Given the description of an element on the screen output the (x, y) to click on. 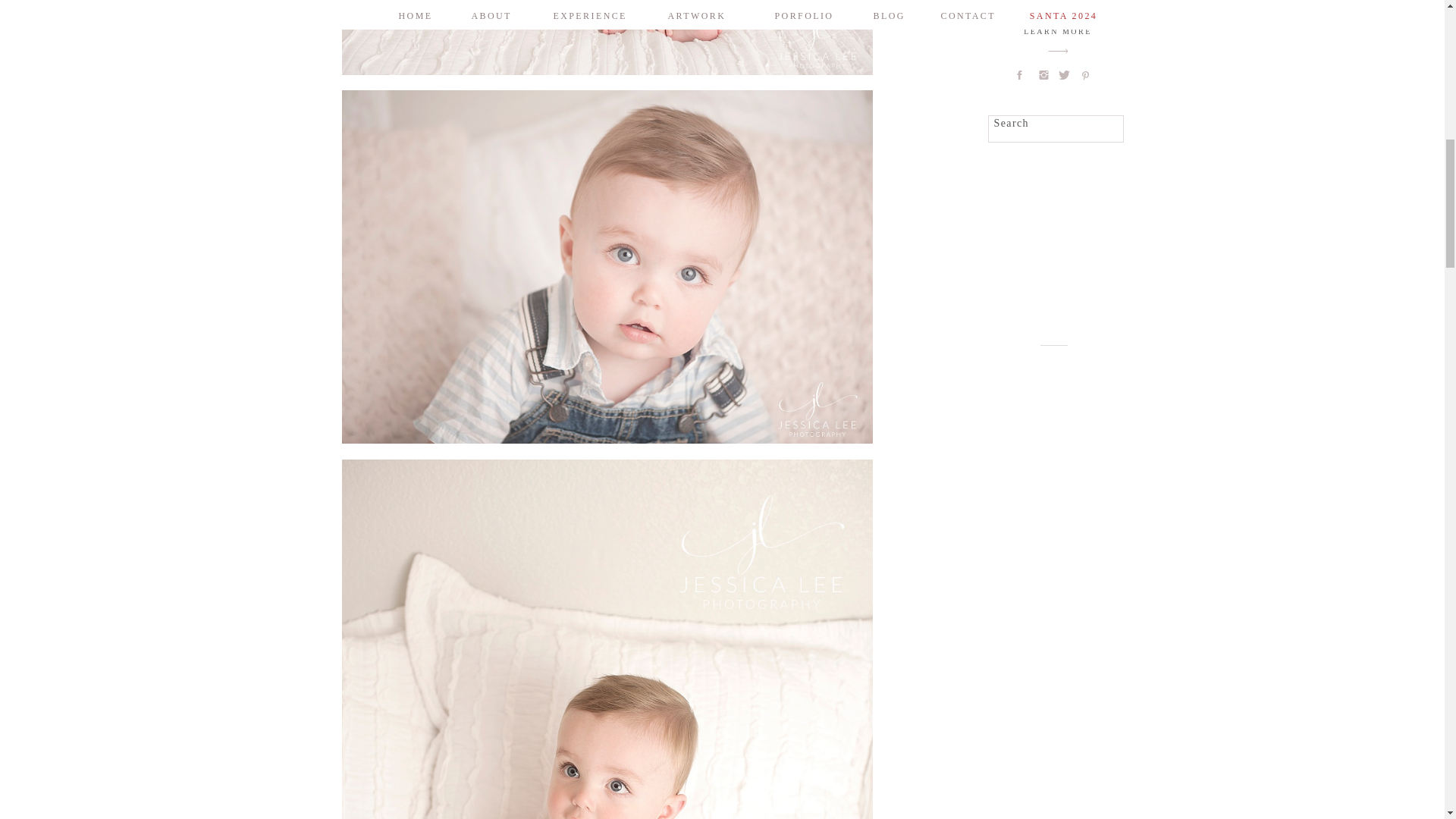
arrow (1058, 50)
